Given the description of an element on the screen output the (x, y) to click on. 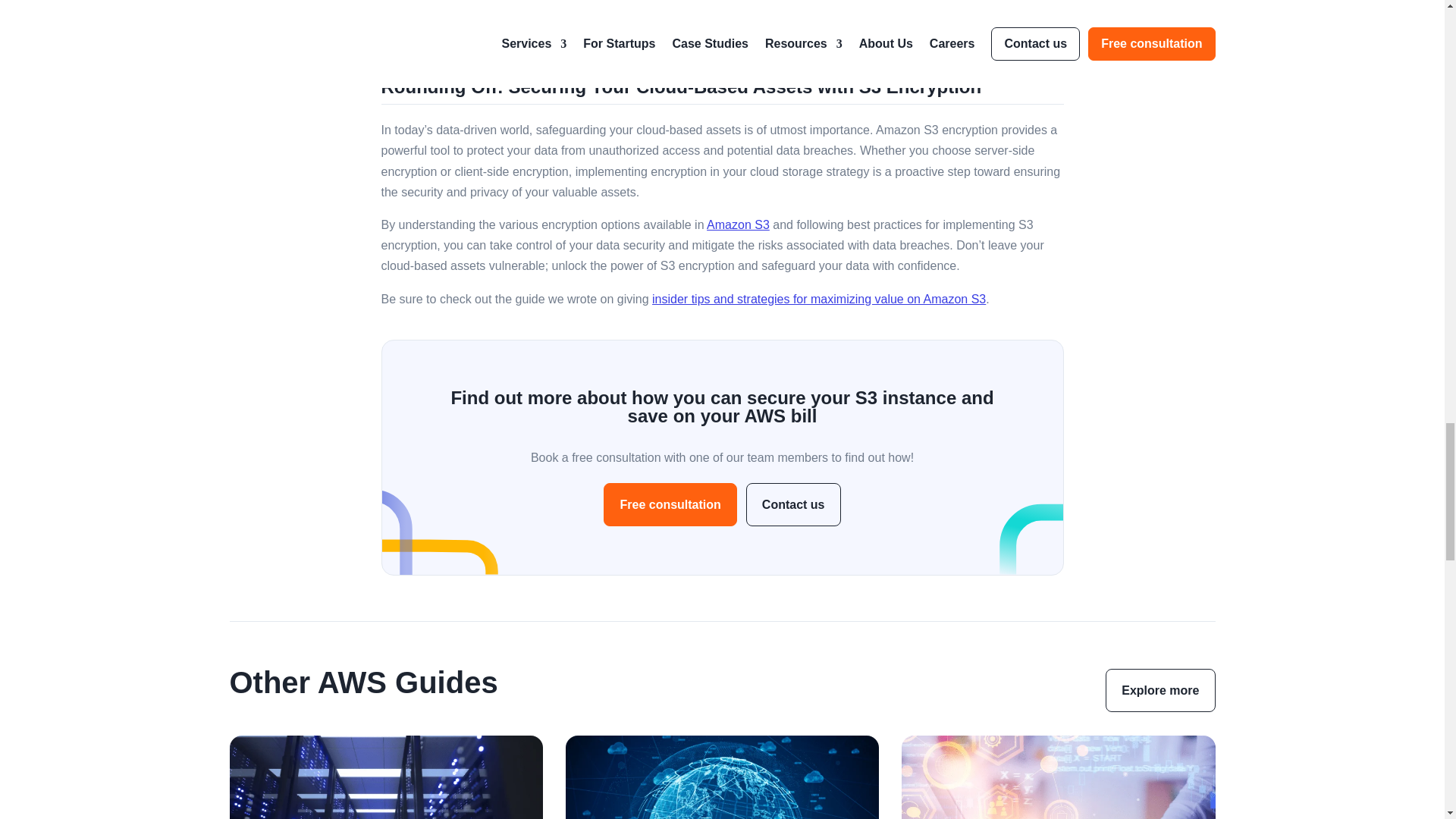
Amazon S3 (738, 224)
Free consultation (670, 504)
Explore more (1159, 690)
Contact us (793, 504)
